Given the description of an element on the screen output the (x, y) to click on. 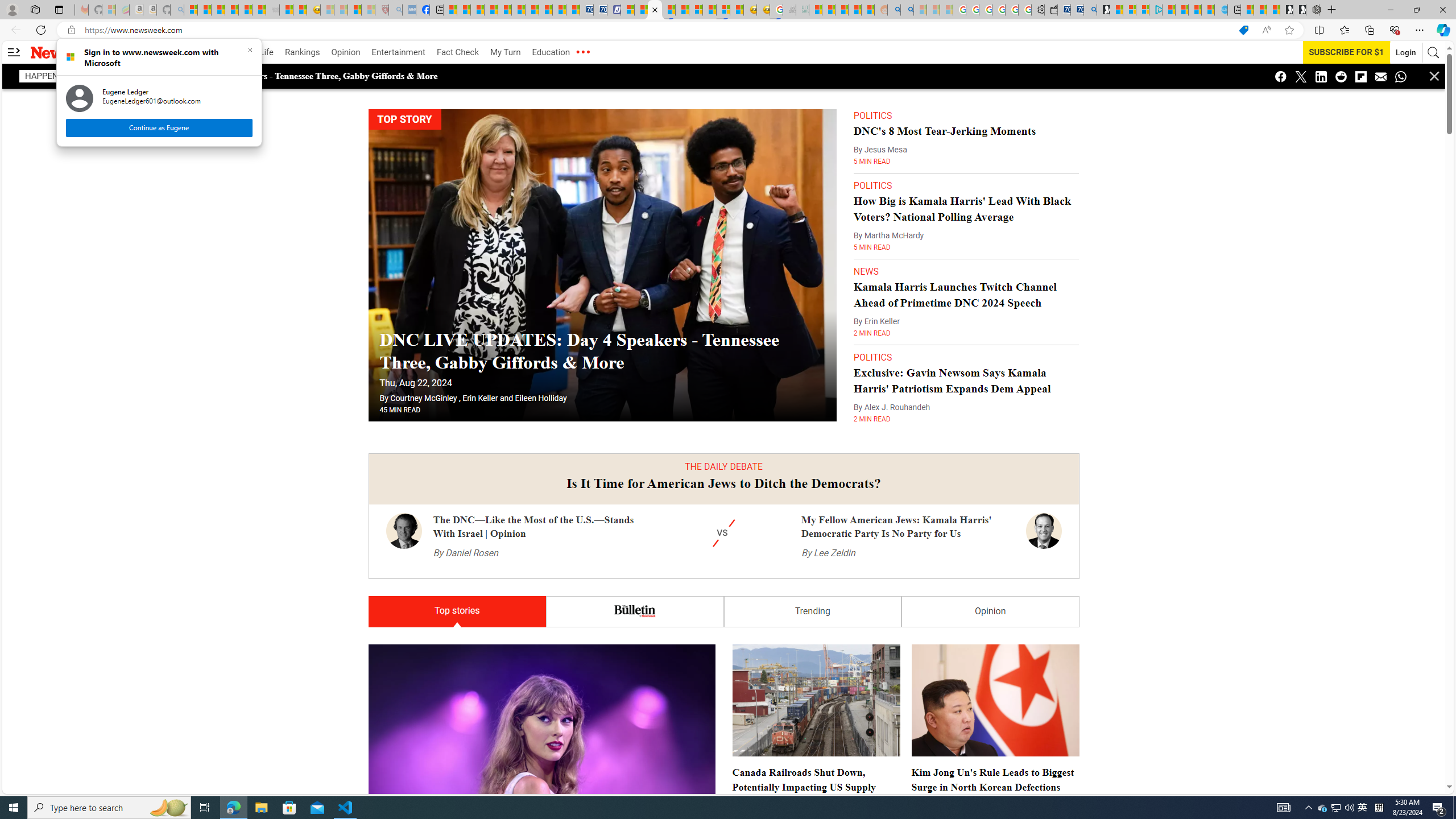
NEWS (866, 271)
Student Loan Update: Forgiveness Program Ends This Month (854, 9)
AutomationID: side-arrow (13, 51)
Eileen Holliday (540, 397)
Bing Real Estate - Home sales and rental listings (1090, 9)
Wallet (1050, 9)
Class: icon-twitter (1362, 807)
